Given the description of an element on the screen output the (x, y) to click on. 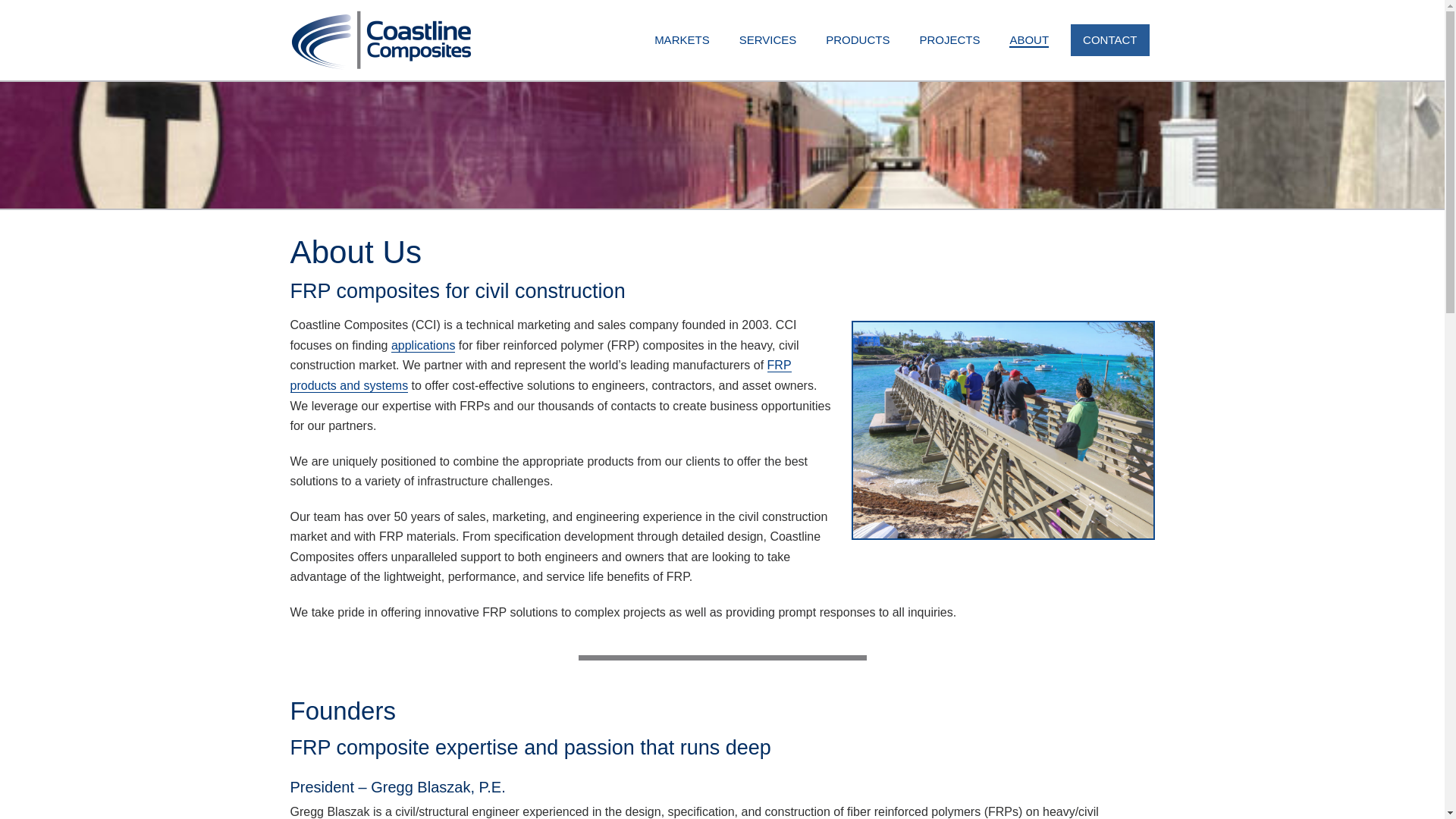
SERVICES (767, 40)
CONTACT (1109, 40)
PRODUCTS (857, 40)
PROJECTS (949, 40)
FRP products and systems (539, 375)
ABOUT (1029, 40)
MARKETS (682, 40)
applications (423, 345)
Coastline Composites, Inc. (380, 39)
